Given the description of an element on the screen output the (x, y) to click on. 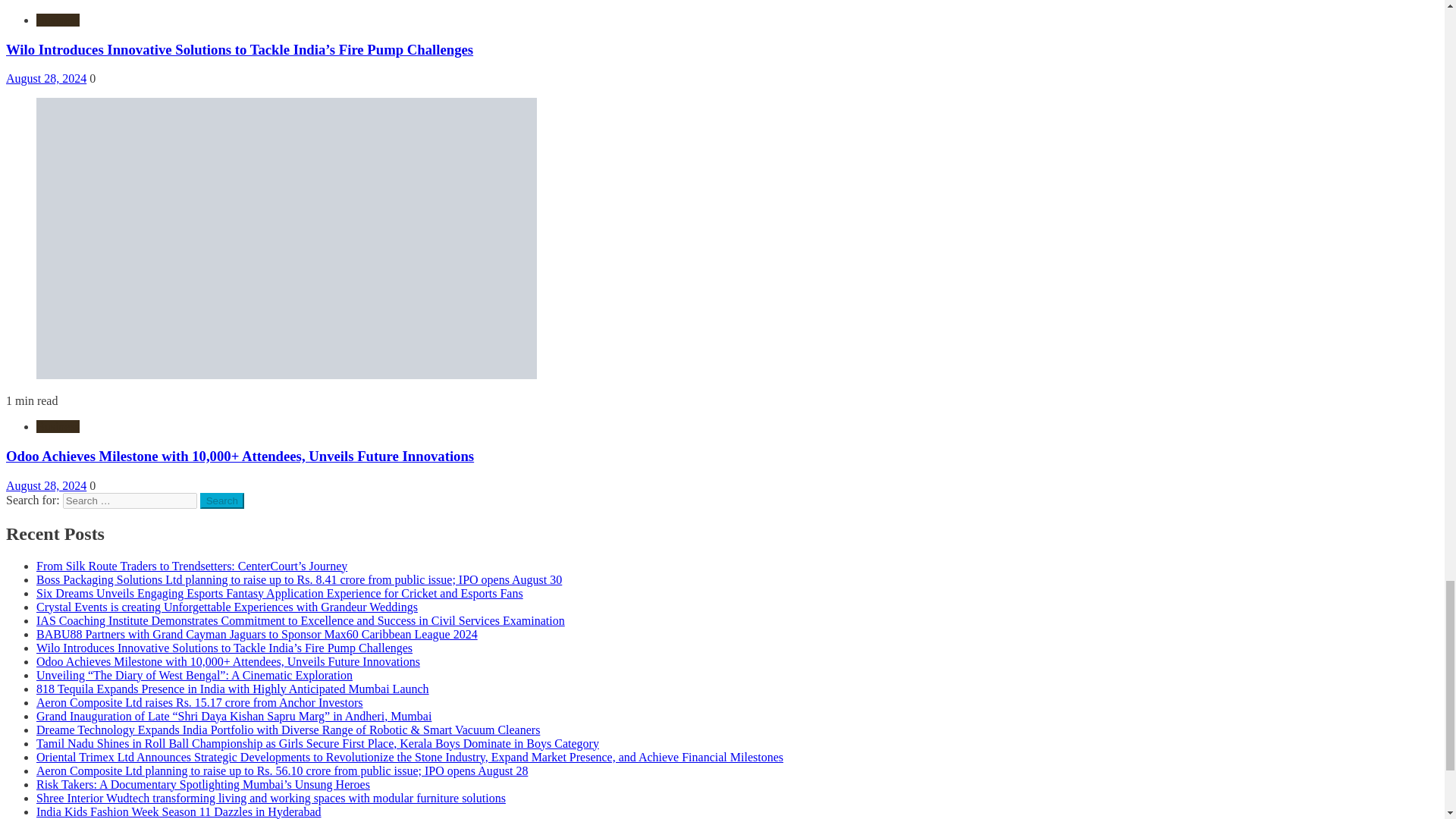
Search (222, 500)
Business (58, 19)
Business (58, 426)
Search (222, 500)
Search (222, 500)
August 28, 2024 (45, 78)
August 28, 2024 (45, 485)
